Given the description of an element on the screen output the (x, y) to click on. 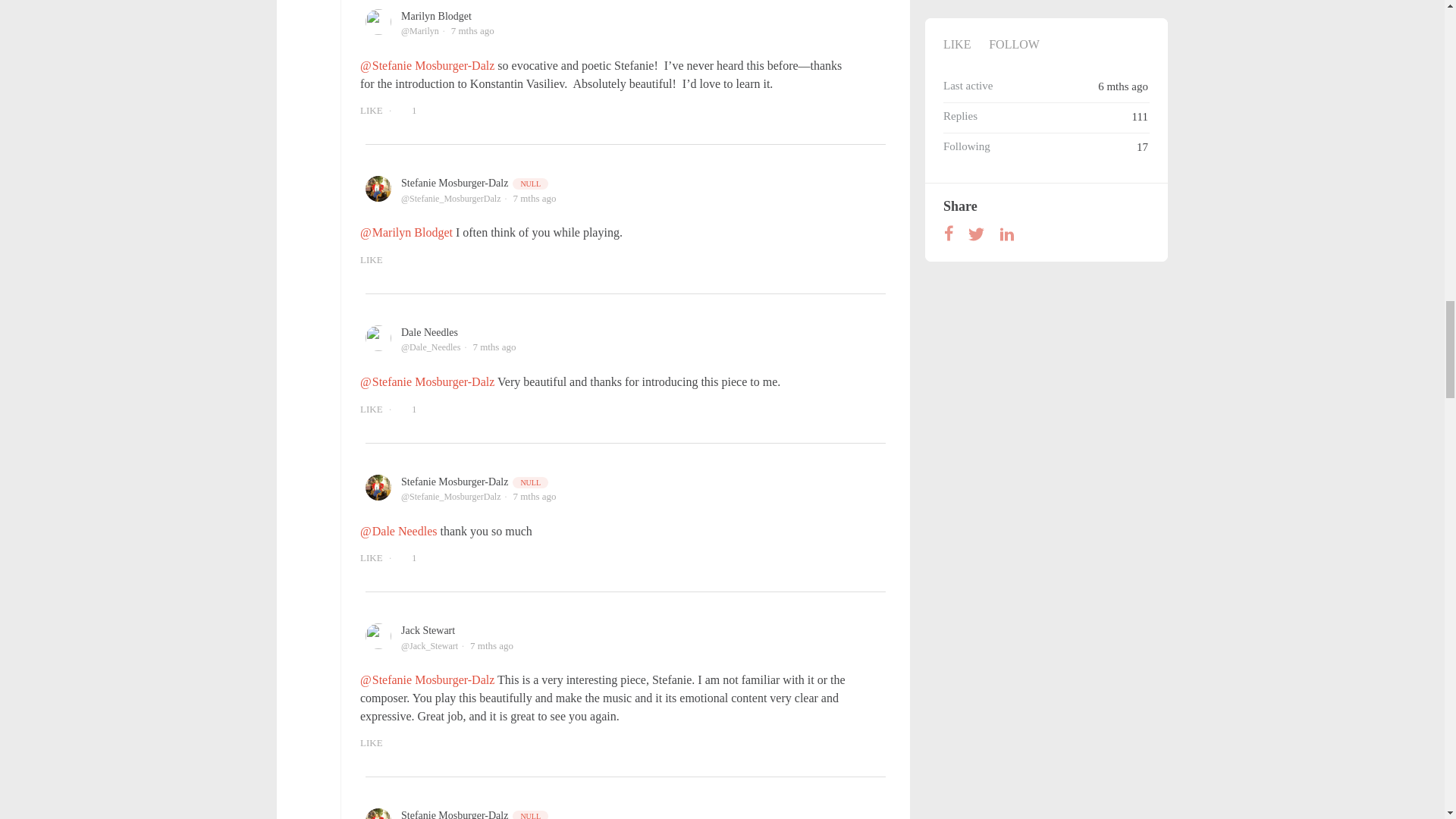
Stefanie Mosburger-DalzNULL (475, 481)
Stefanie Mosburger-DalzNULL (475, 183)
Marilyn Blodget (436, 16)
Dale Needles (429, 332)
